Given the description of an element on the screen output the (x, y) to click on. 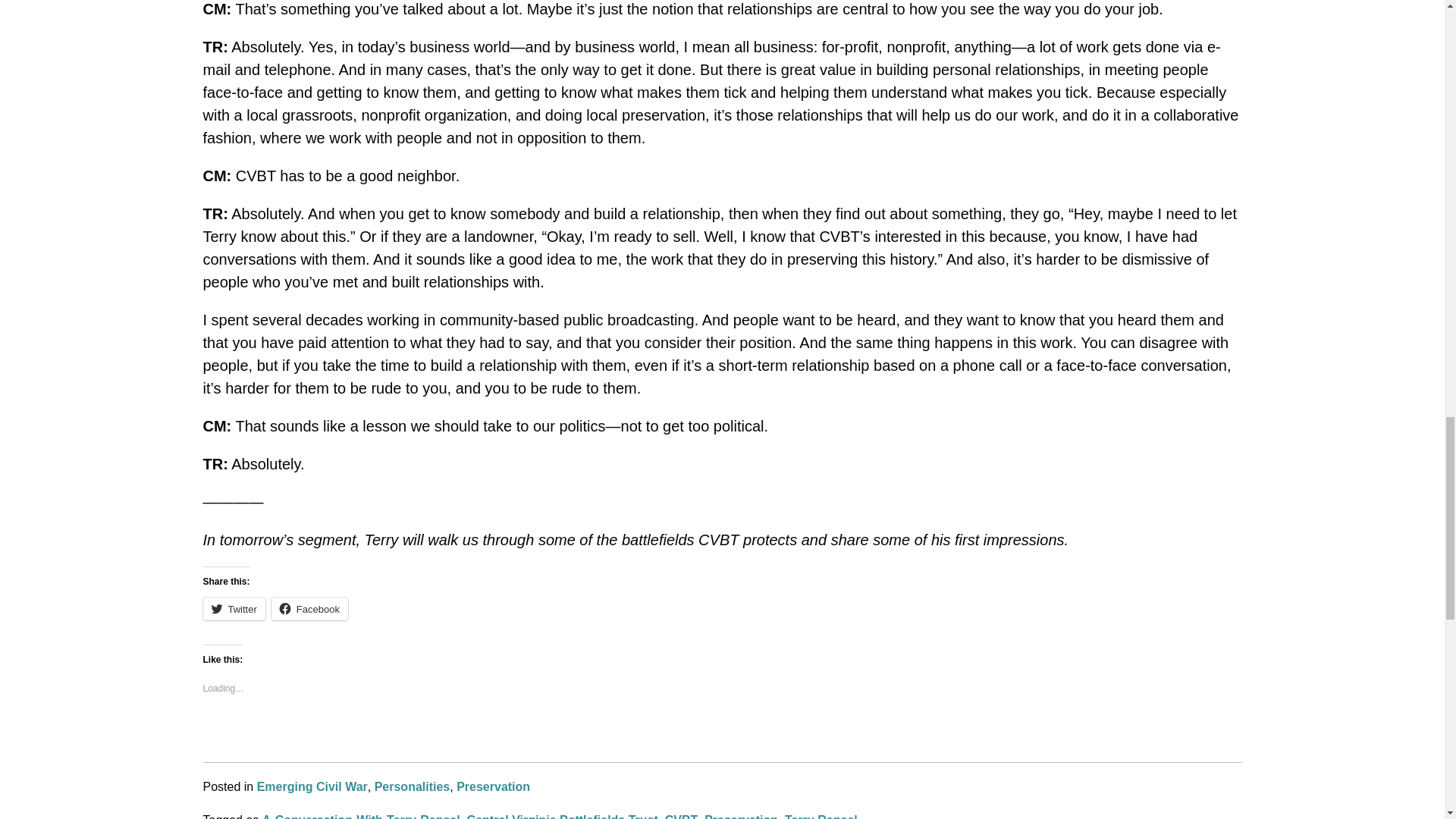
Click to share on Twitter (233, 608)
Emerging Civil War (312, 786)
Facebook (308, 608)
Twitter (233, 608)
Click to share on Facebook (308, 608)
Personalities (411, 786)
